Given the description of an element on the screen output the (x, y) to click on. 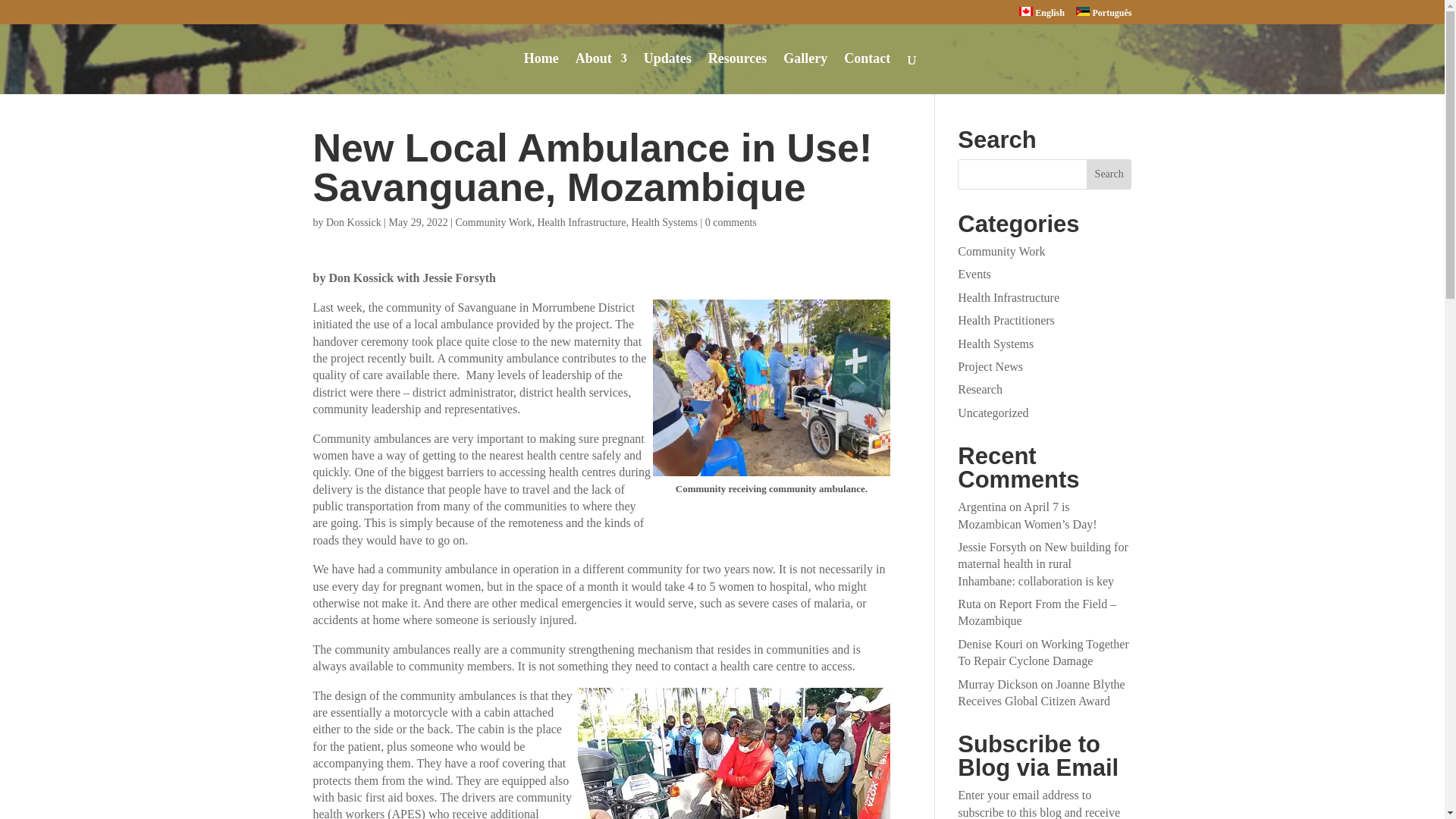
Posts by Don Kossick (353, 222)
Uncategorized (992, 412)
Research (980, 389)
Community Work (493, 222)
Don Kossick (353, 222)
About (601, 73)
Contact (866, 73)
Joanne Blythe Receives Global Citizen Award (1041, 692)
Working Together To Repair Cyclone Damage (1043, 652)
Gallery (805, 73)
English (1041, 15)
Resources (737, 73)
Health Practitioners (1006, 319)
Project News (990, 366)
Health Systems (995, 343)
